Given the description of an element on the screen output the (x, y) to click on. 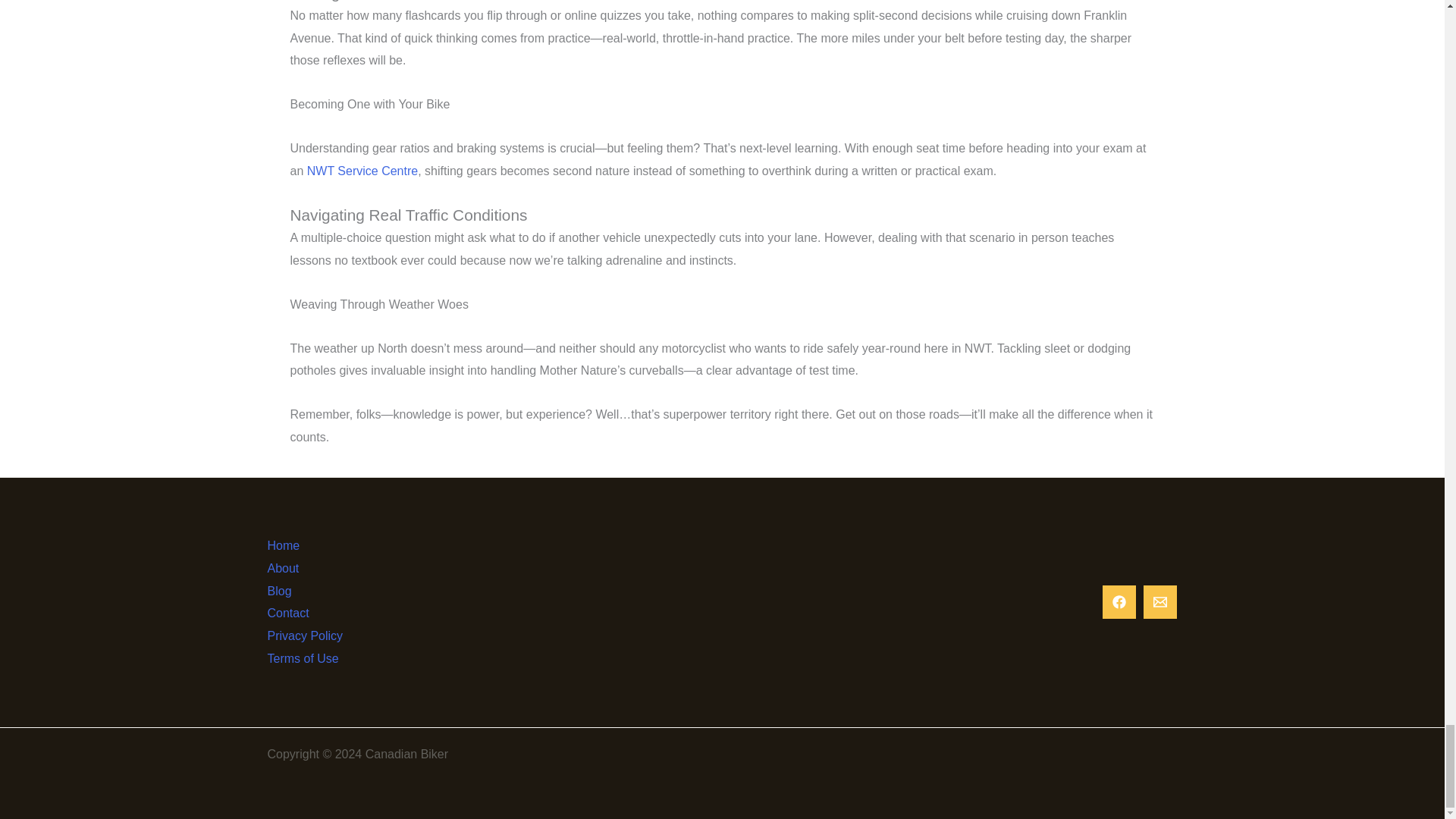
About (291, 568)
Contact (296, 612)
NWT Service Centre (362, 170)
Blog (288, 590)
Privacy Policy (313, 635)
Home (292, 545)
Terms of Use (311, 658)
